Given the description of an element on the screen output the (x, y) to click on. 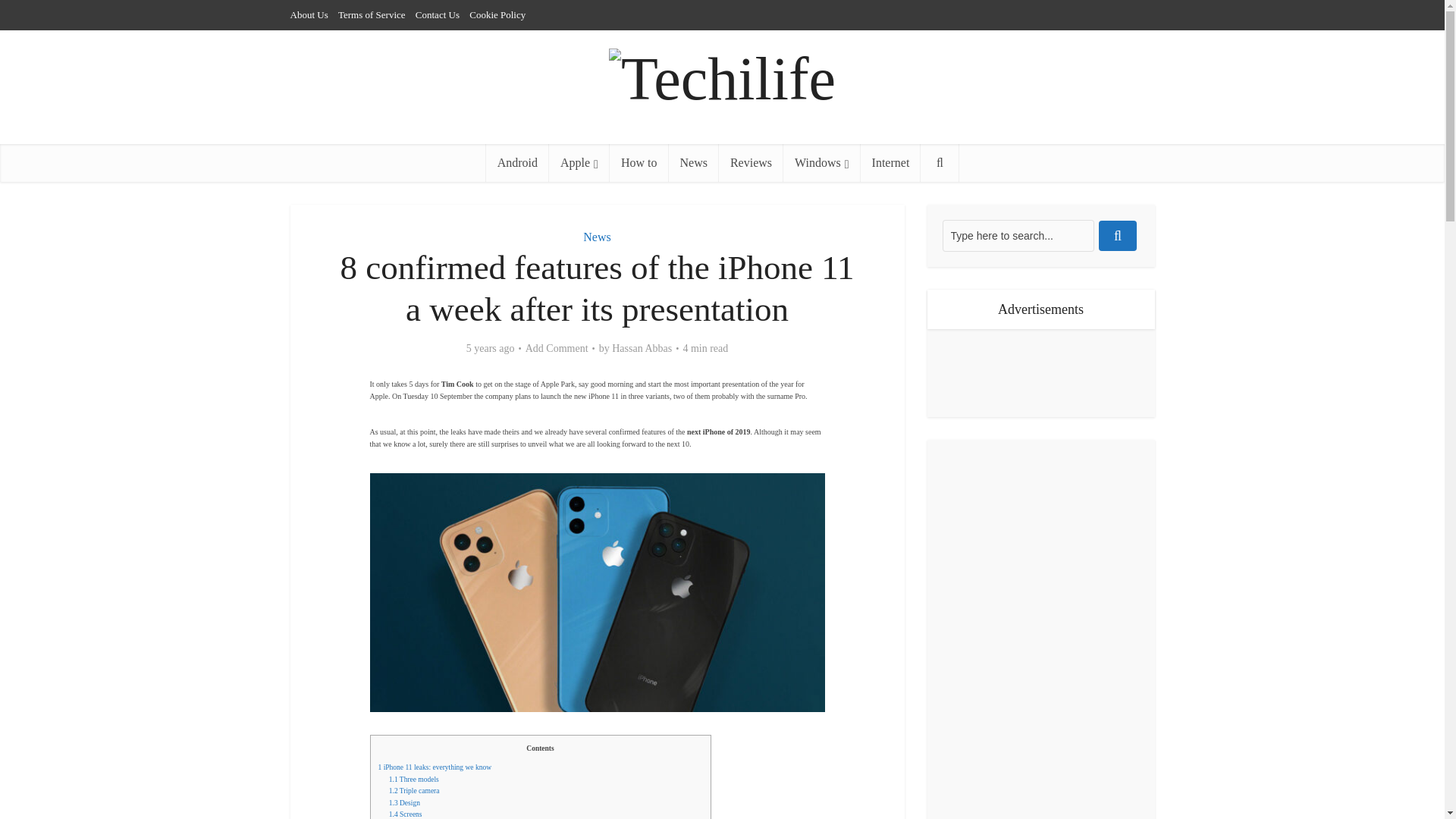
1.1 Three models (413, 778)
1.4 Screens (405, 814)
Terms of Service (371, 14)
Internet (890, 162)
Cookie Policy (496, 14)
Reviews (751, 162)
1.3 Design (404, 802)
How to (639, 162)
Android (517, 162)
Hassan Abbas (641, 348)
